Given the description of an element on the screen output the (x, y) to click on. 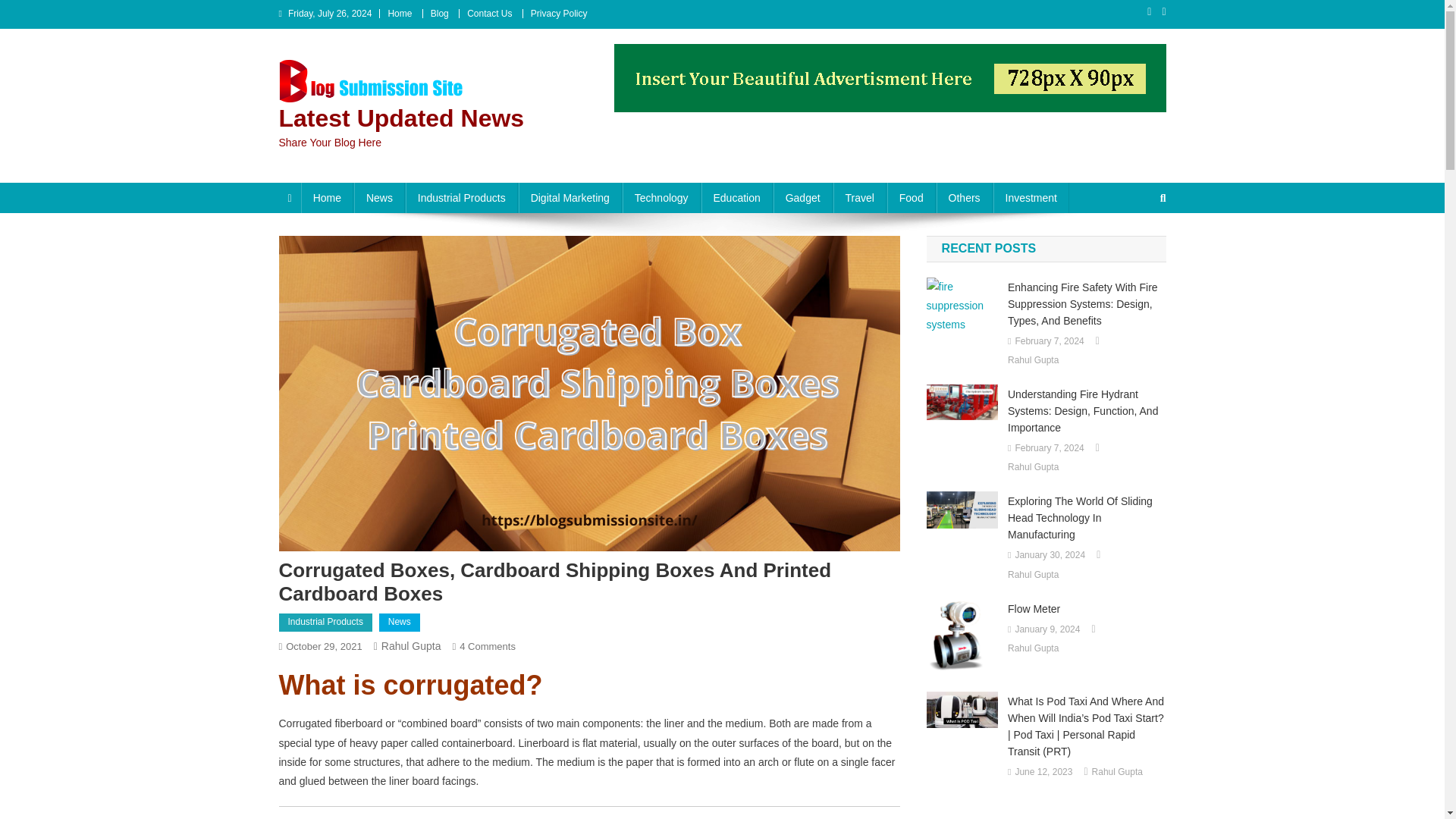
Digital Marketing (569, 197)
Gadget (802, 197)
Investment (1030, 197)
News (399, 622)
Food (911, 197)
Privacy Policy (559, 13)
Rahul Gupta (411, 645)
Home (327, 197)
Search (1133, 248)
Industrial Products (325, 622)
Technology (661, 197)
Blog (439, 13)
Travel (858, 197)
Education (735, 197)
